Given the description of an element on the screen output the (x, y) to click on. 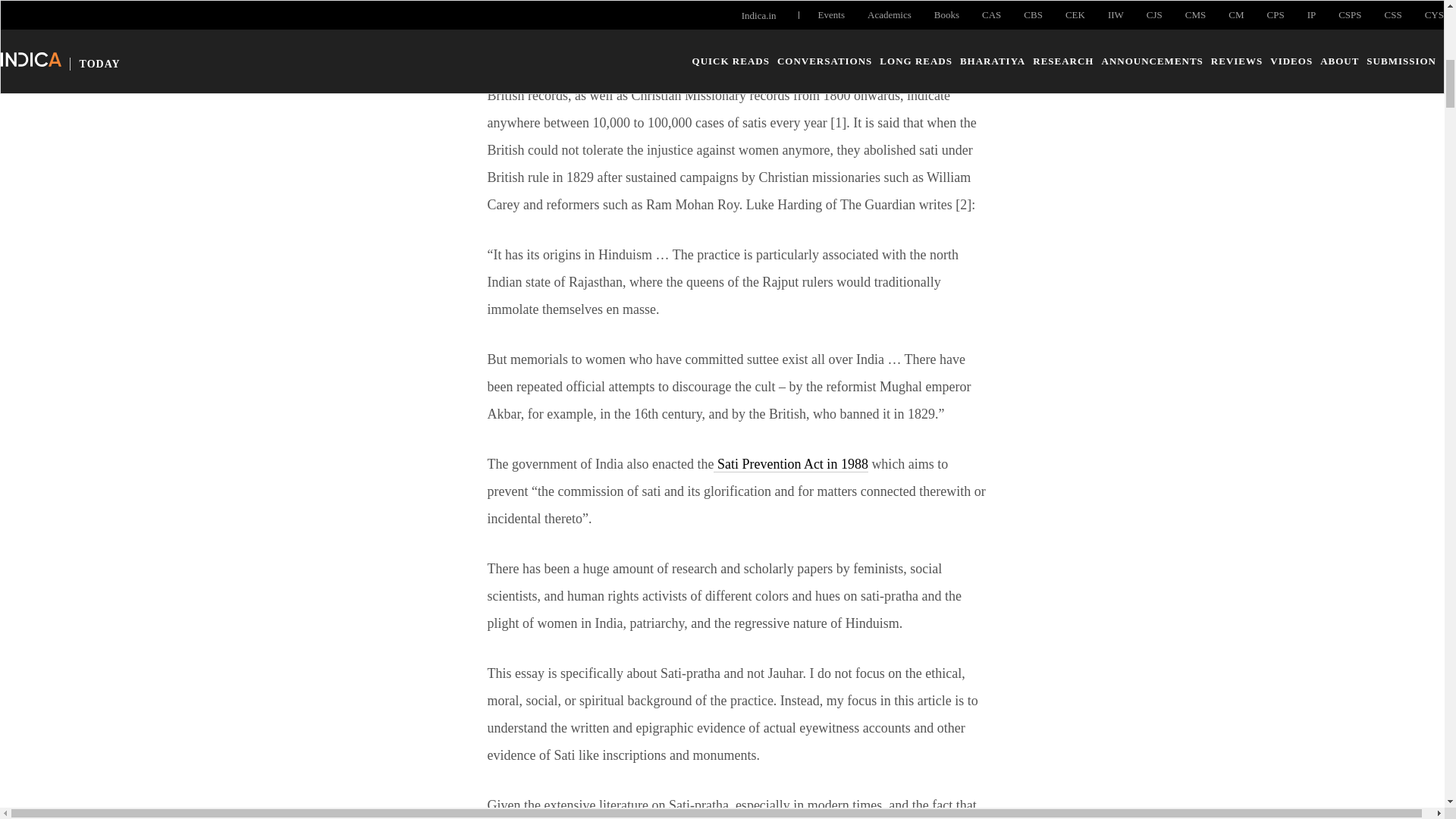
Sati Prevention Act in 1988 (790, 464)
